Given the description of an element on the screen output the (x, y) to click on. 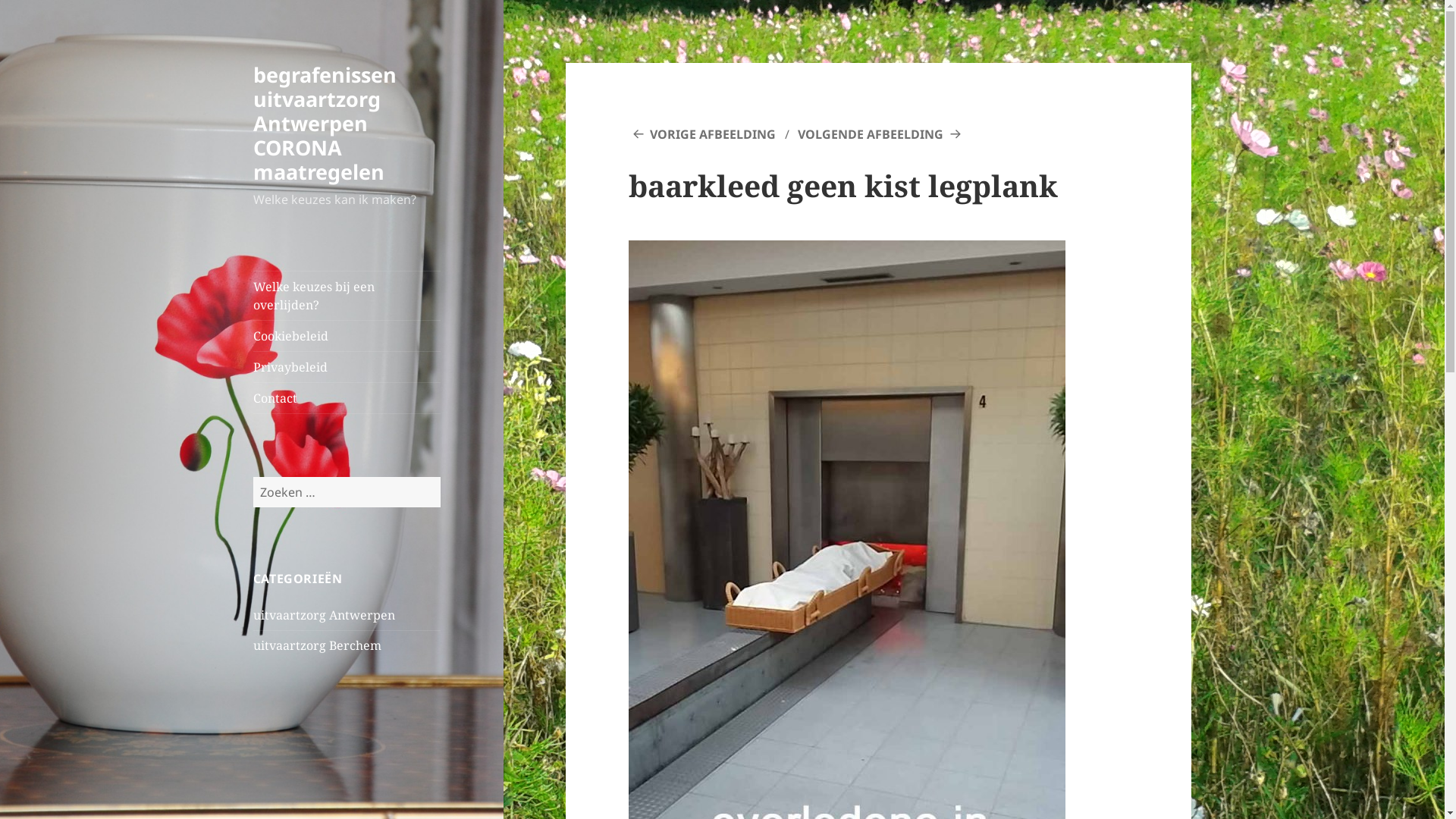
Contact Element type: text (347, 397)
VORIGE AFBEELDING Element type: text (702, 133)
VOLGENDE AFBEELDING Element type: text (881, 133)
Welke keuzes bij een overlijden? Element type: text (347, 295)
Zoeken Element type: text (439, 476)
Privaybeleid Element type: text (347, 366)
uitvaartzorg Antwerpen Element type: text (324, 614)
Cookiebeleid Element type: text (347, 335)
uitvaartzorg Berchem Element type: text (317, 645)
begrafenissen uitvaartzorg Antwerpen CORONA maatregelen Element type: text (324, 122)
